Given the description of an element on the screen output the (x, y) to click on. 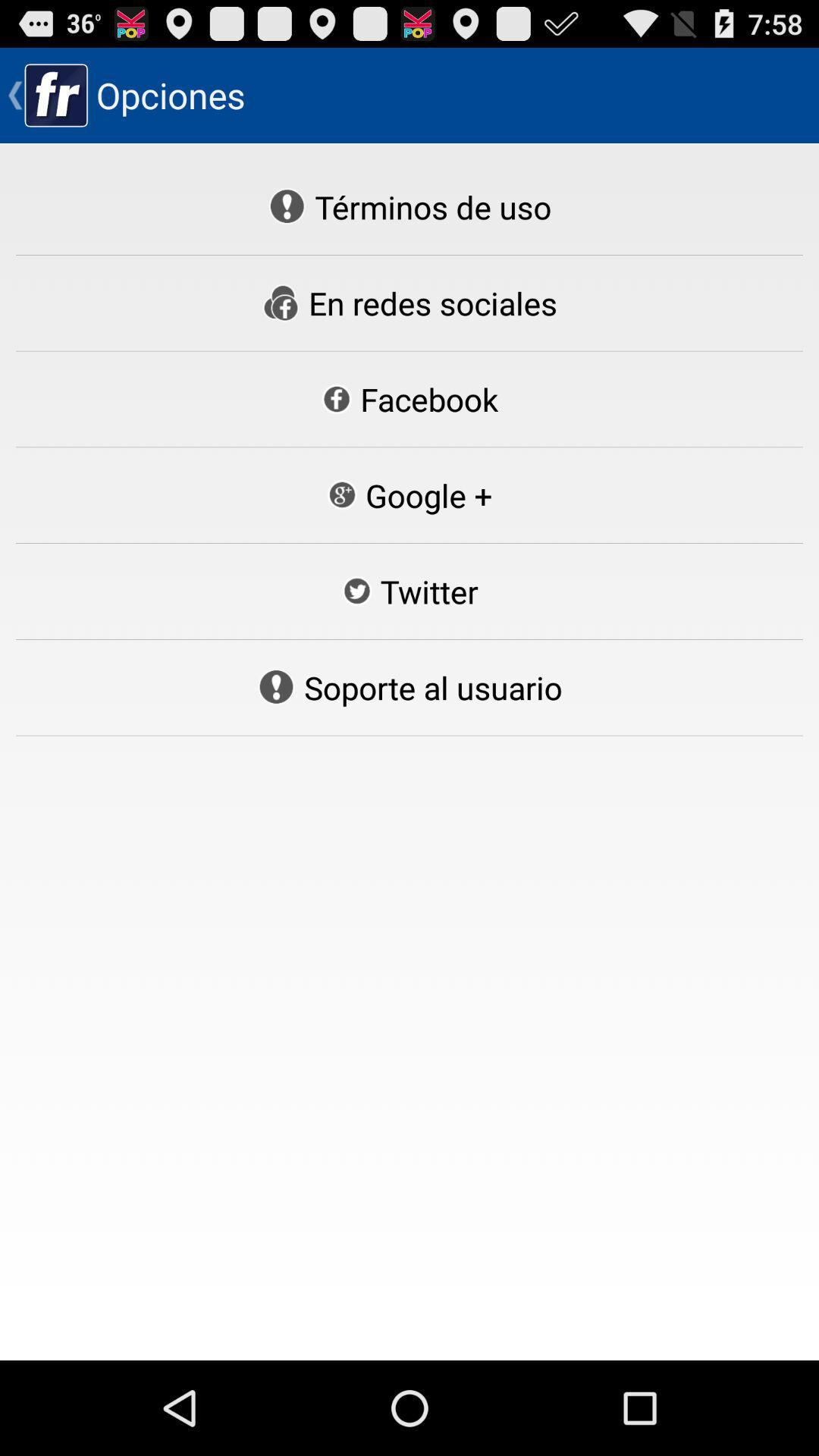
choose the en redes sociales (409, 302)
